Given the description of an element on the screen output the (x, y) to click on. 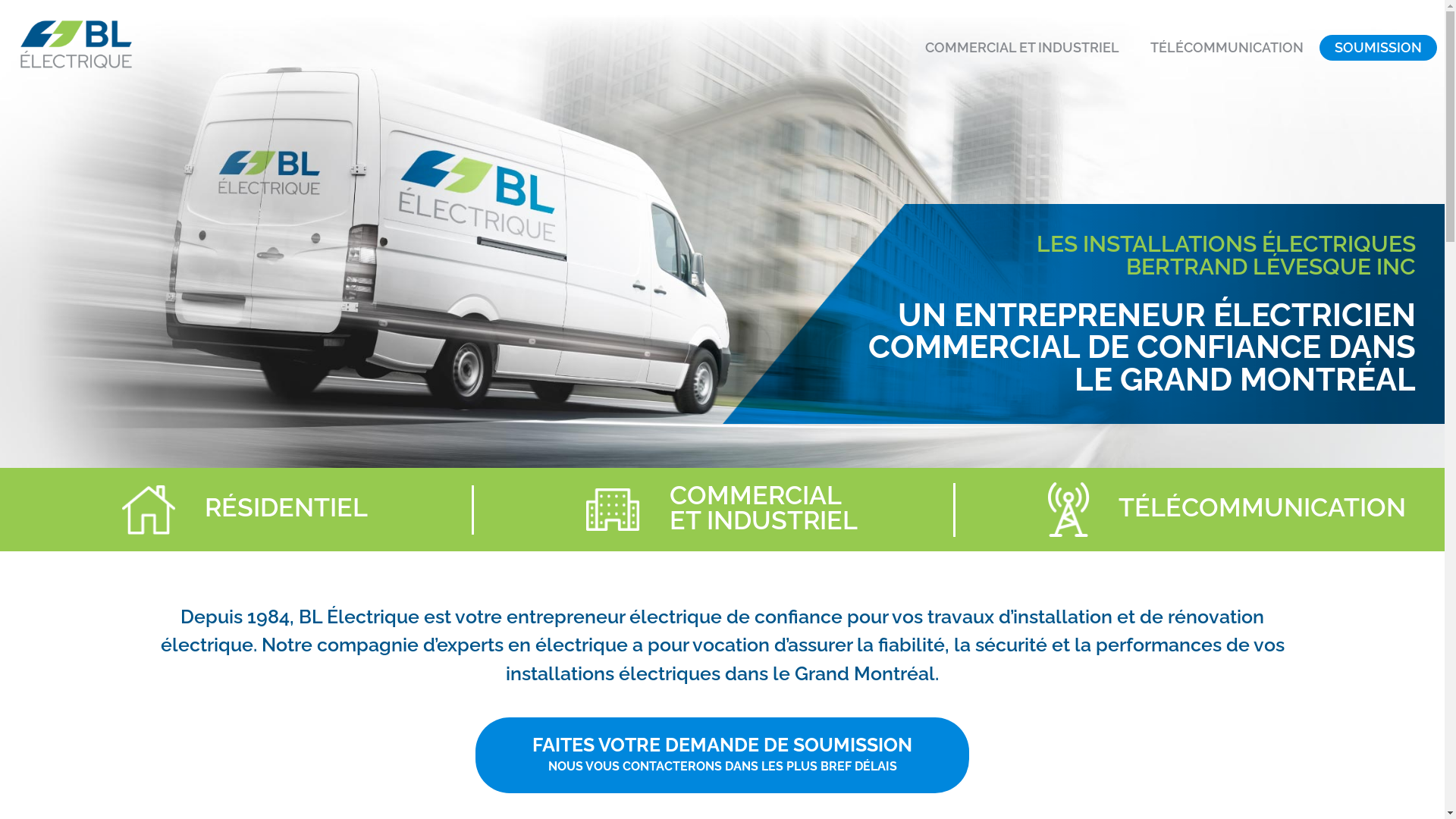
COMMERCIAL
ET INDUSTRIEL Element type: text (763, 508)
COMMERCIAL ET INDUSTRIEL Element type: text (1022, 47)
SOUMISSION Element type: text (1378, 47)
